Given the description of an element on the screen output the (x, y) to click on. 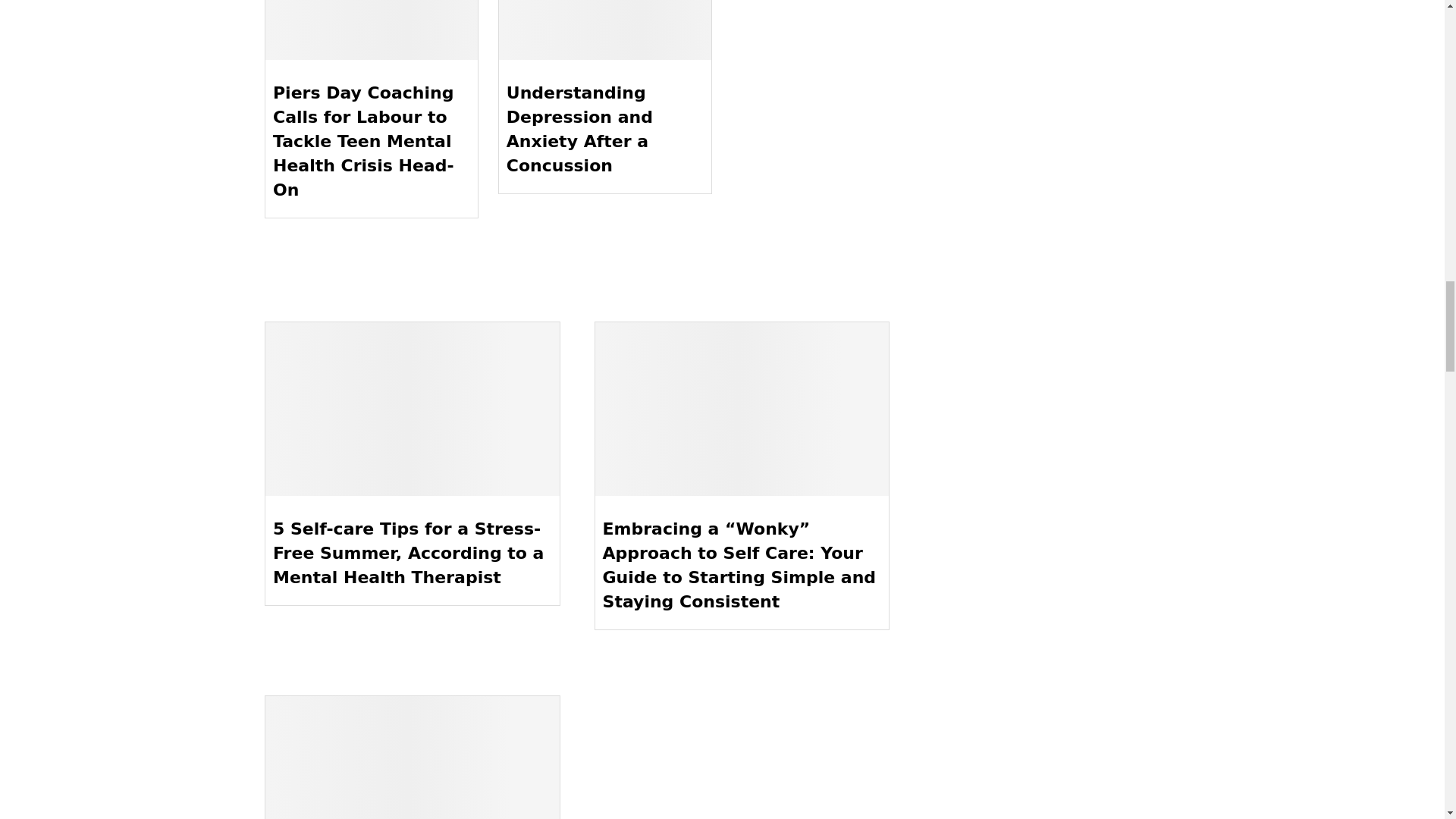
Understanding Depression and Anxiety After a Concussion (605, 29)
